Given the description of an element on the screen output the (x, y) to click on. 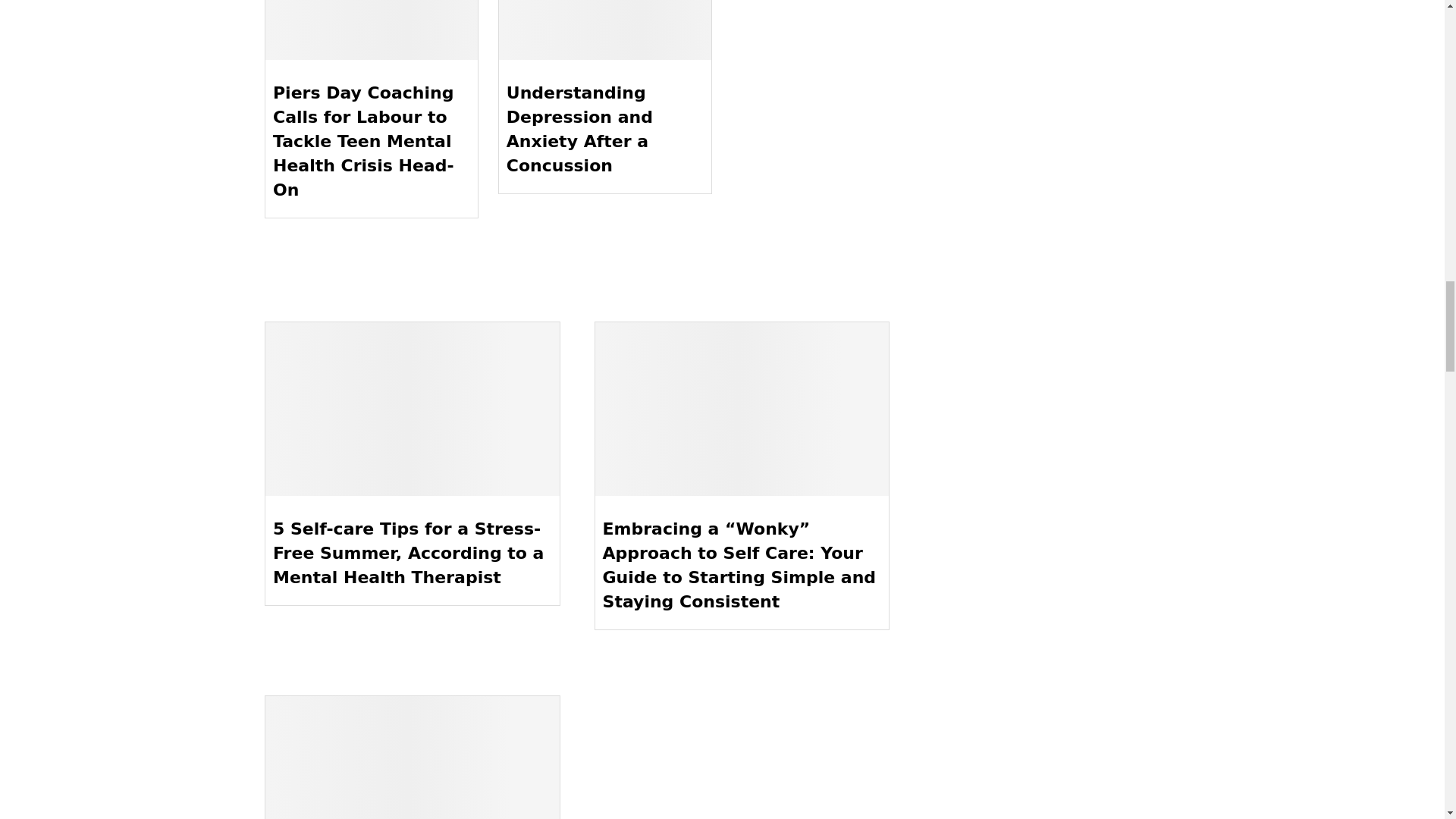
Understanding Depression and Anxiety After a Concussion (605, 29)
